Given the description of an element on the screen output the (x, y) to click on. 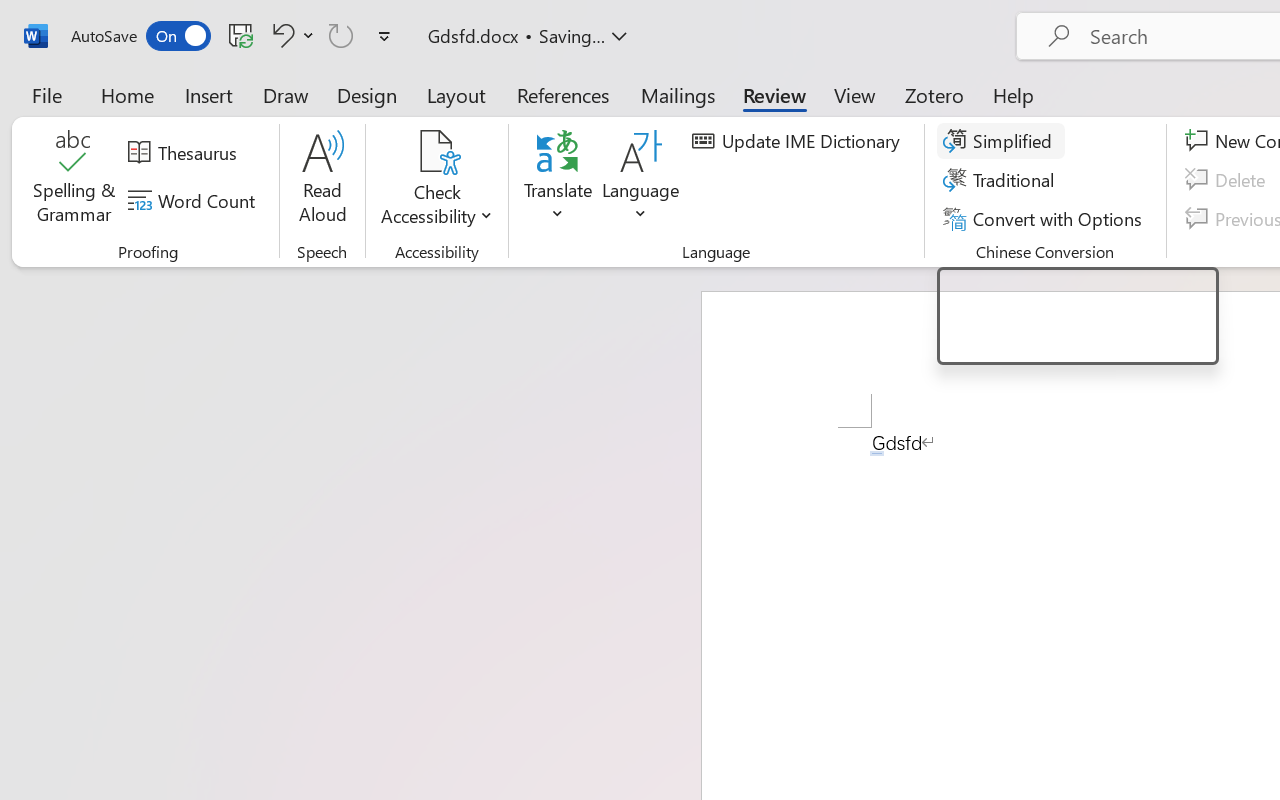
Simplified (1000, 141)
Thesaurus... (185, 153)
